Given the description of an element on the screen output the (x, y) to click on. 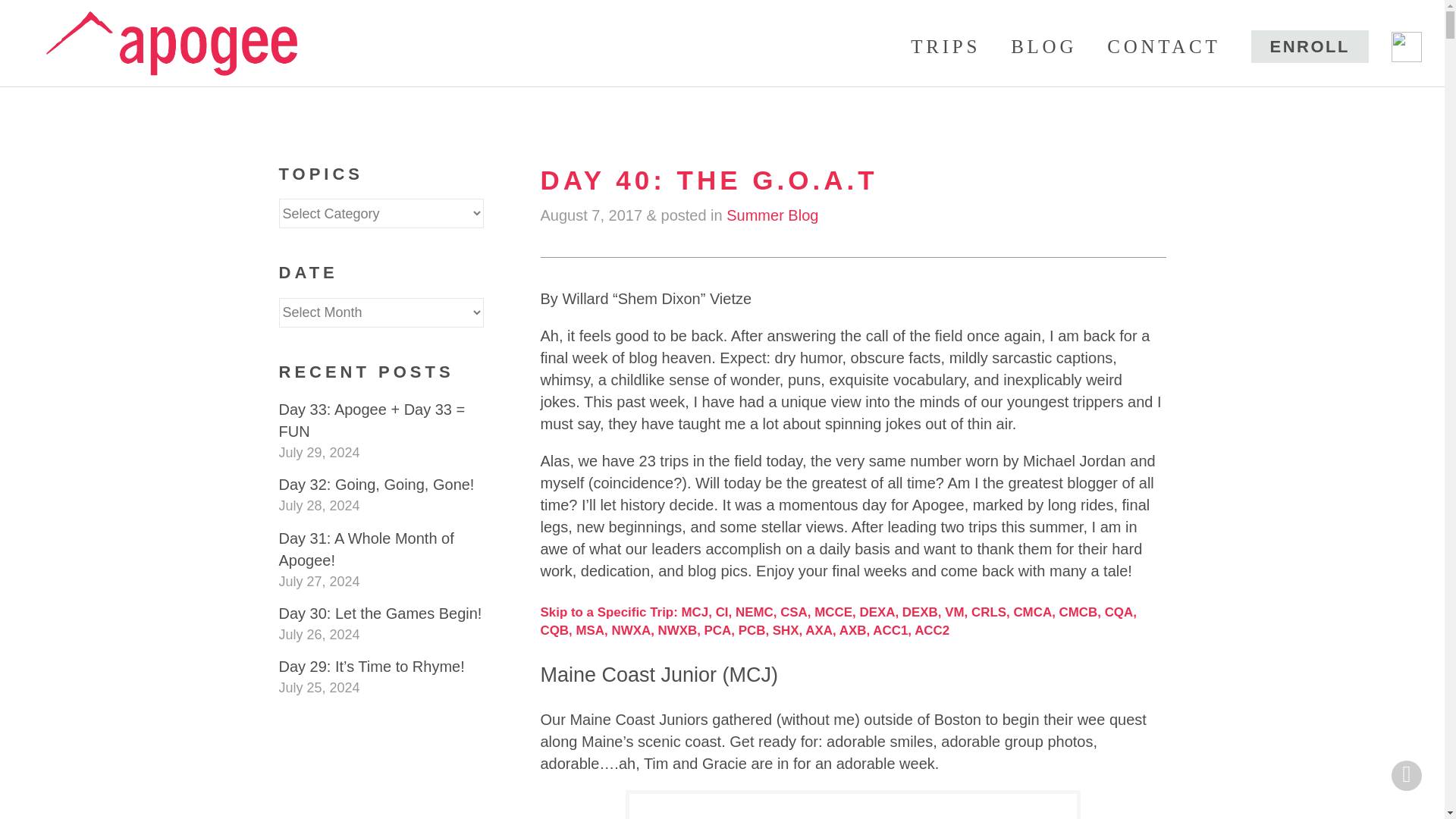
CI (722, 612)
MCJ (695, 612)
ENROLL (1309, 46)
Apogee Adventures (171, 39)
TRIPS (945, 46)
NEMC (754, 612)
BLOG (1043, 46)
Summer Blog (772, 215)
BLOG (1043, 46)
TRIPS (945, 46)
CONTACT (1163, 46)
ENROLL (1309, 46)
CONTACT (1163, 46)
